Given the description of an element on the screen output the (x, y) to click on. 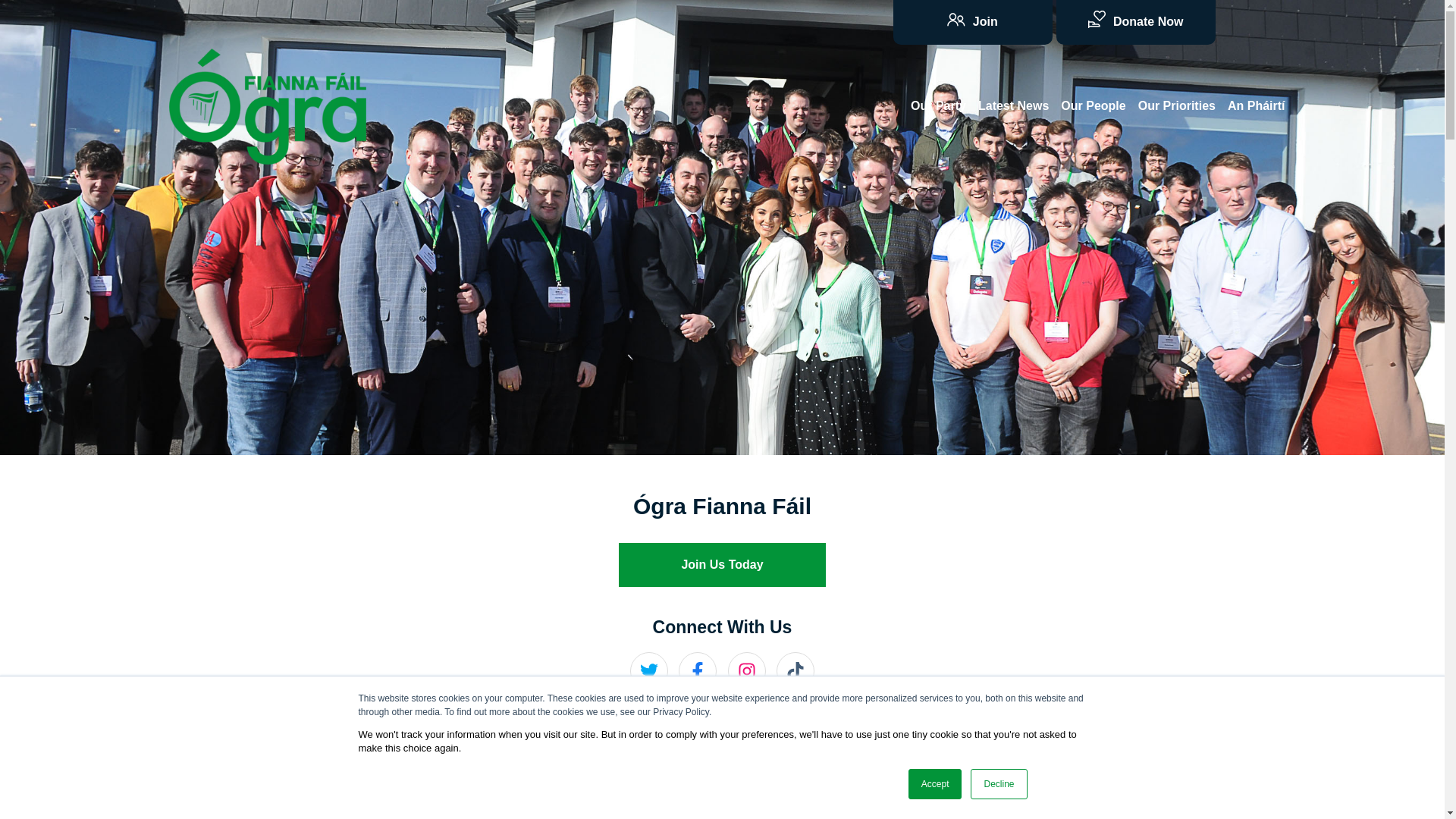
Accept (935, 784)
Decline (998, 784)
Our People (1092, 105)
Donate Now (1134, 22)
Our Party (938, 105)
Ogra-Logo-Green (266, 106)
Join (972, 22)
Join Us Today (721, 564)
Our Priorities (1176, 105)
Latest News (1013, 105)
